Given the description of an element on the screen output the (x, y) to click on. 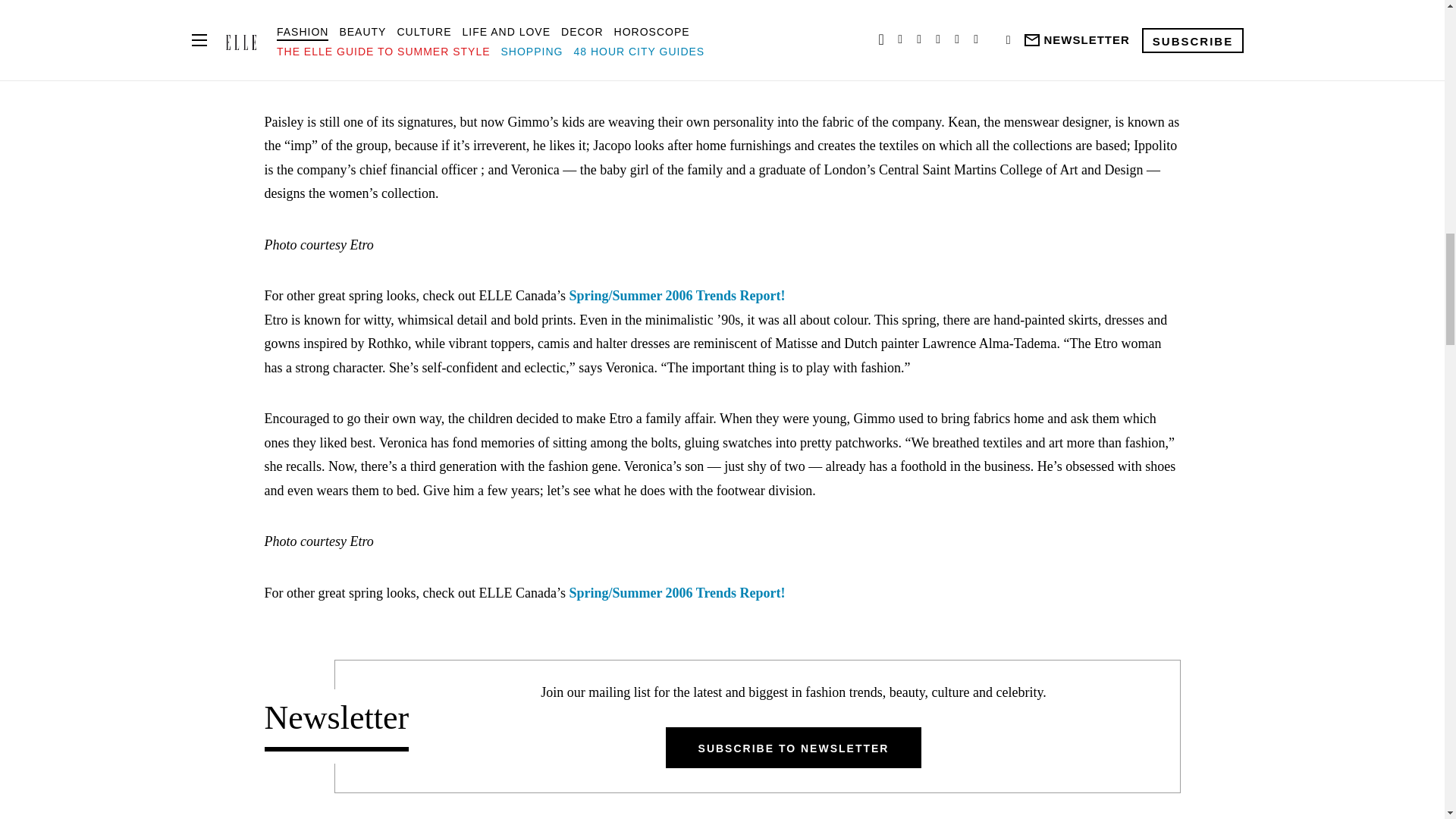
SUBSCRIBE TO NEWSLETTER (793, 747)
